Given the description of an element on the screen output the (x, y) to click on. 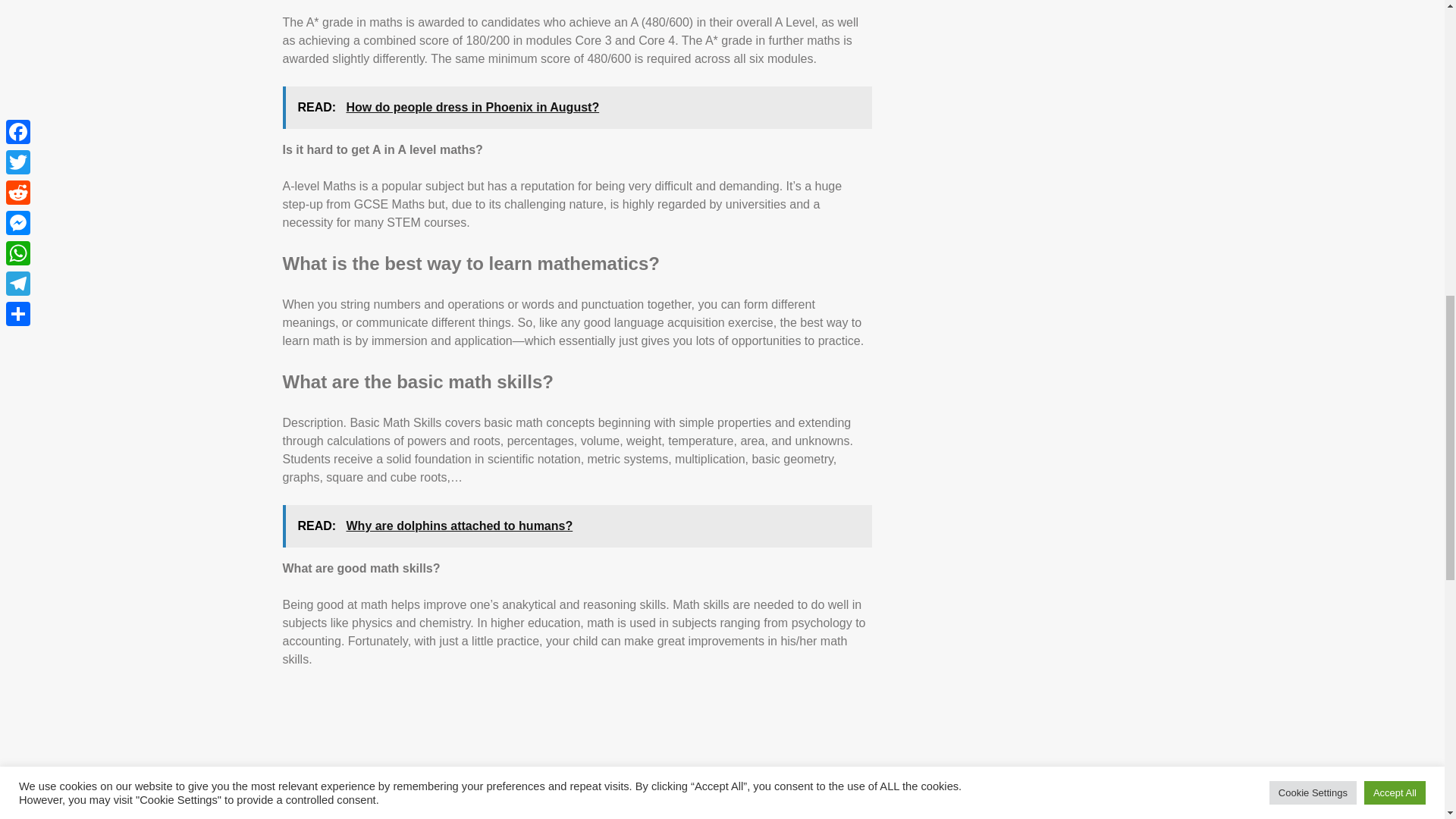
READ:   Why are dolphins attached to humans? (576, 526)
READ:   How do people dress in Phoenix in August? (576, 107)
